Given the description of an element on the screen output the (x, y) to click on. 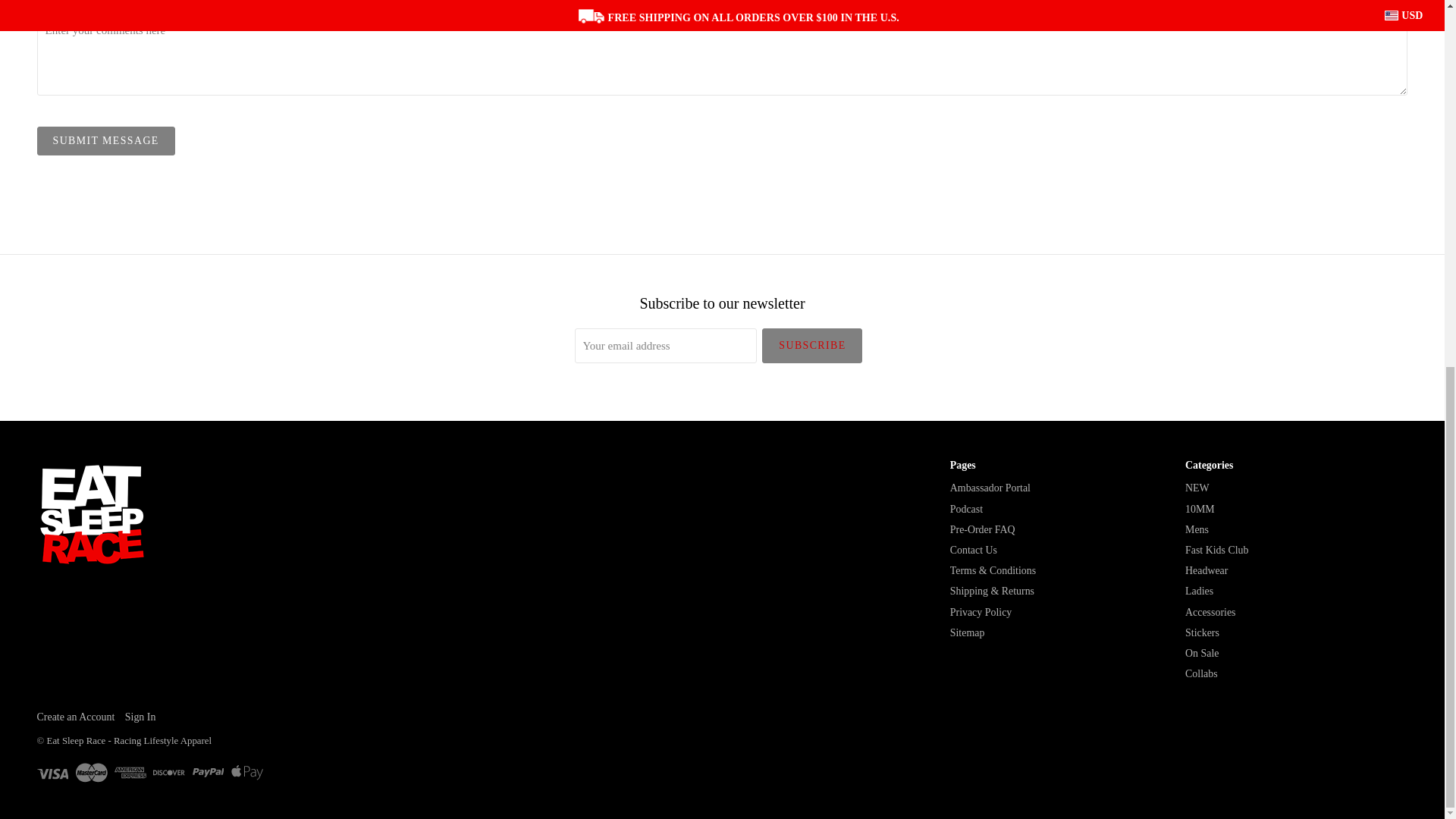
Subscribe (811, 345)
Submit Message (105, 140)
